Given the description of an element on the screen output the (x, y) to click on. 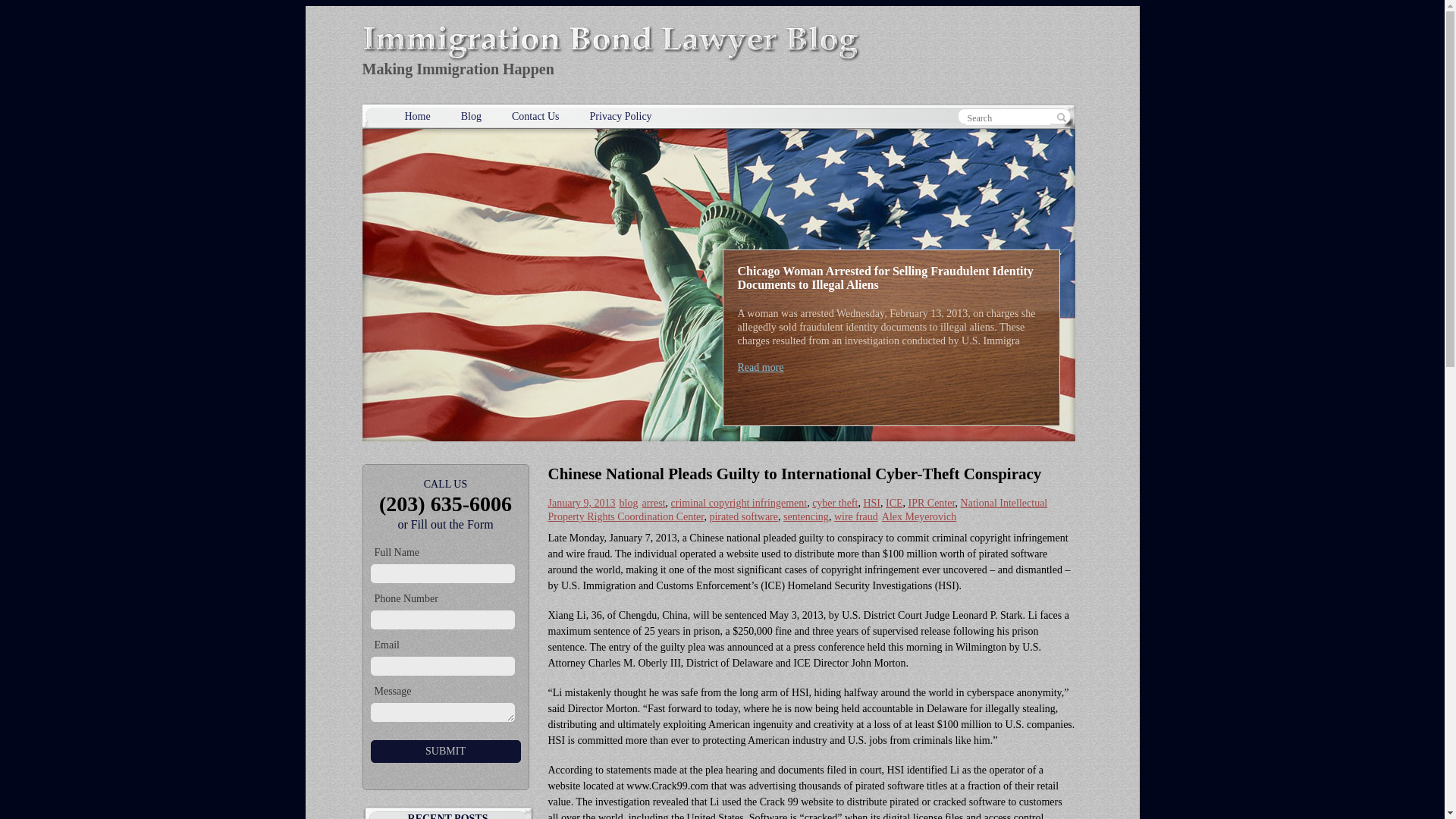
Blog (471, 116)
SUBMIT (444, 751)
ICE (893, 502)
blog (629, 502)
SUBMIT (444, 751)
Contact Us (535, 116)
Read more (759, 367)
Home (417, 116)
HSI (871, 502)
sentencing (805, 516)
